Given the description of an element on the screen output the (x, y) to click on. 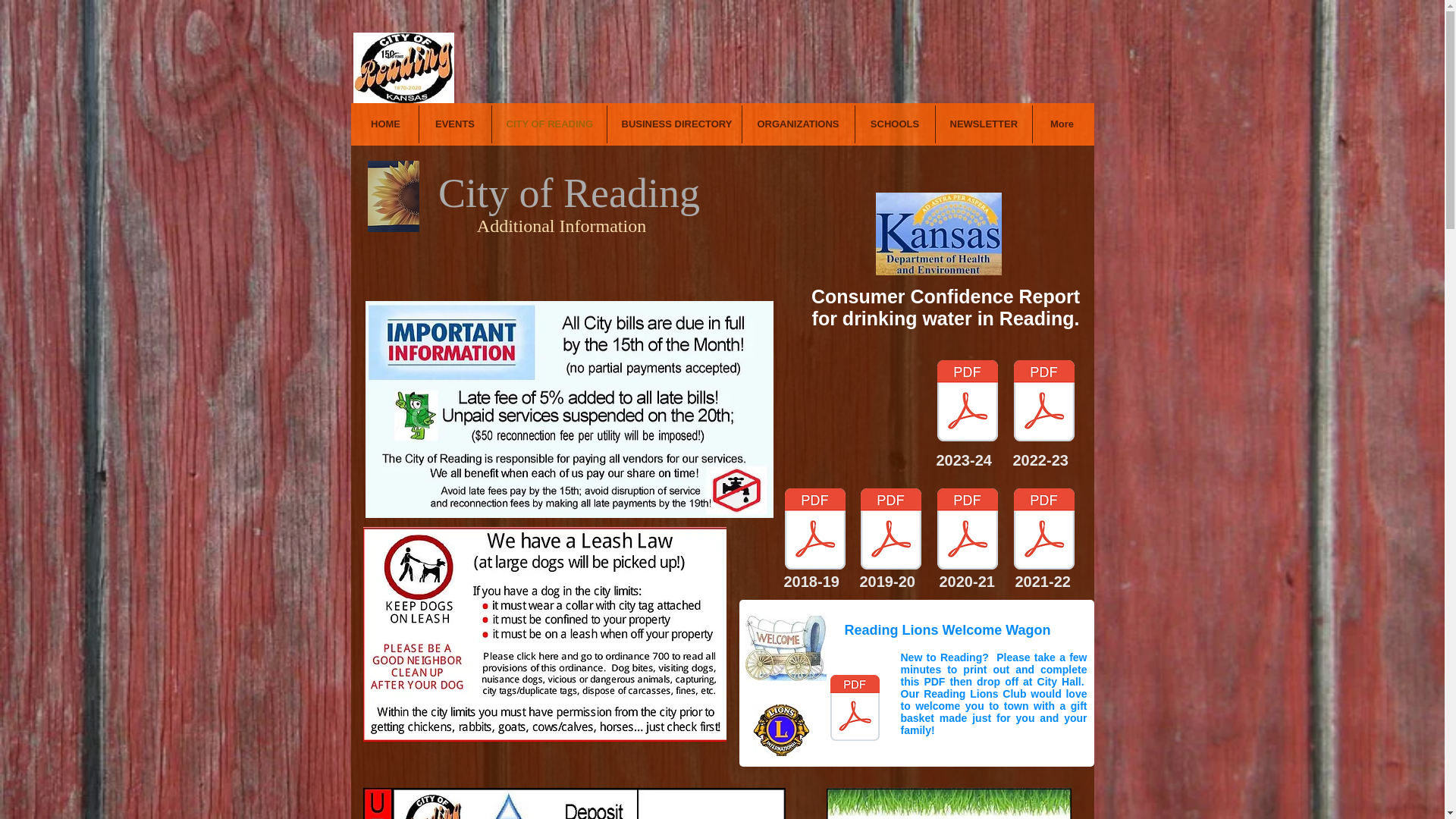
SCHOOLS (895, 124)
City of Reading logo (403, 67)
CITY OF READING (548, 124)
HOME (386, 124)
NEWSLETTER (984, 124)
ciy bills (569, 409)
leash law (543, 634)
EVENTS (454, 124)
welcome wagon (784, 647)
Lions Club logo (780, 729)
